Given the description of an element on the screen output the (x, y) to click on. 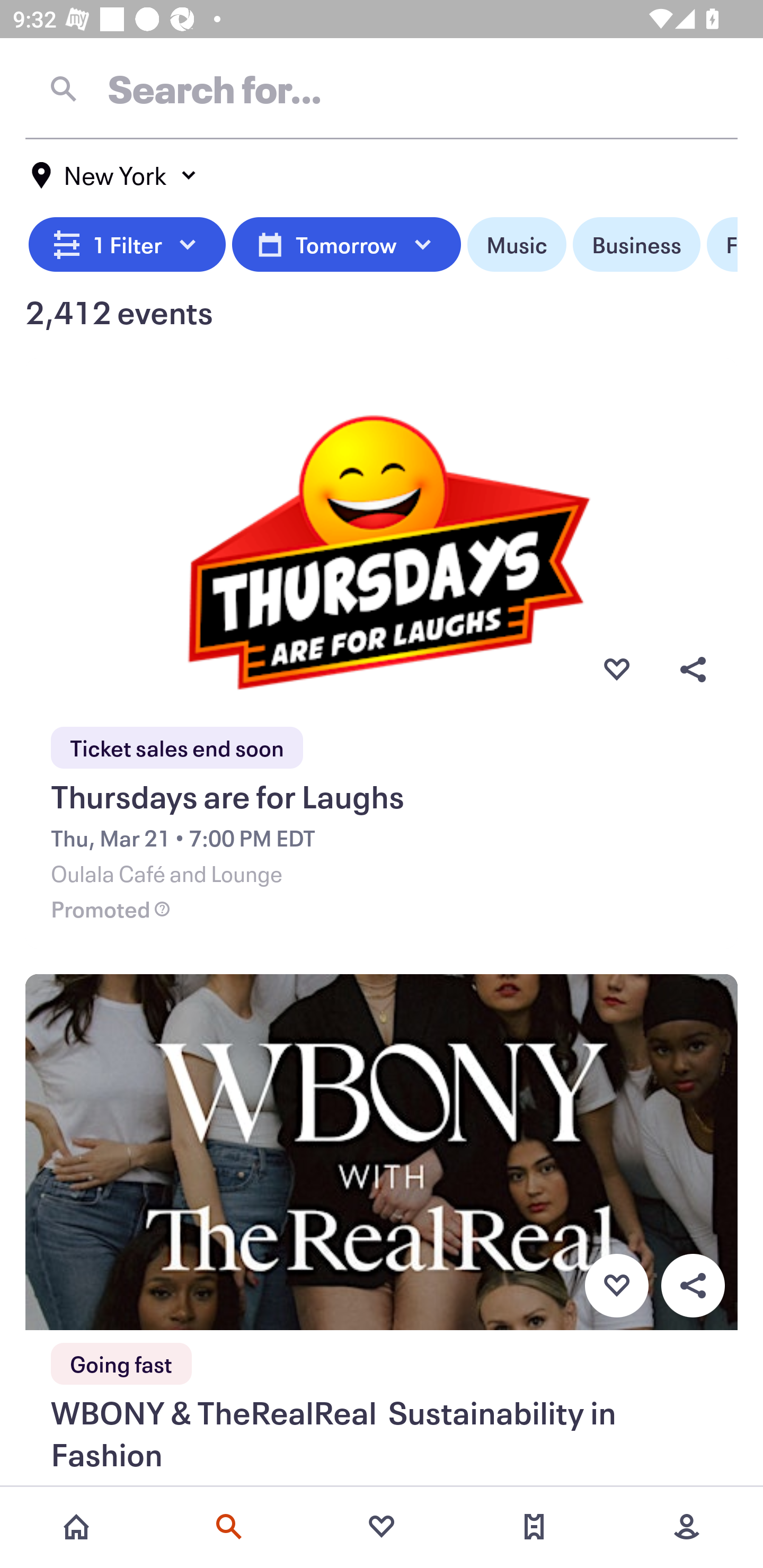
Search for… (381, 88)
New York (114, 175)
1 Filter (126, 244)
Tomorrow (345, 244)
Music (516, 244)
Business (636, 244)
Favorite button (616, 669)
Overflow menu button (692, 669)
Favorite button (616, 1285)
Overflow menu button (692, 1285)
Home (76, 1526)
Search events (228, 1526)
Favorites (381, 1526)
Tickets (533, 1526)
More (686, 1526)
